Given the description of an element on the screen output the (x, y) to click on. 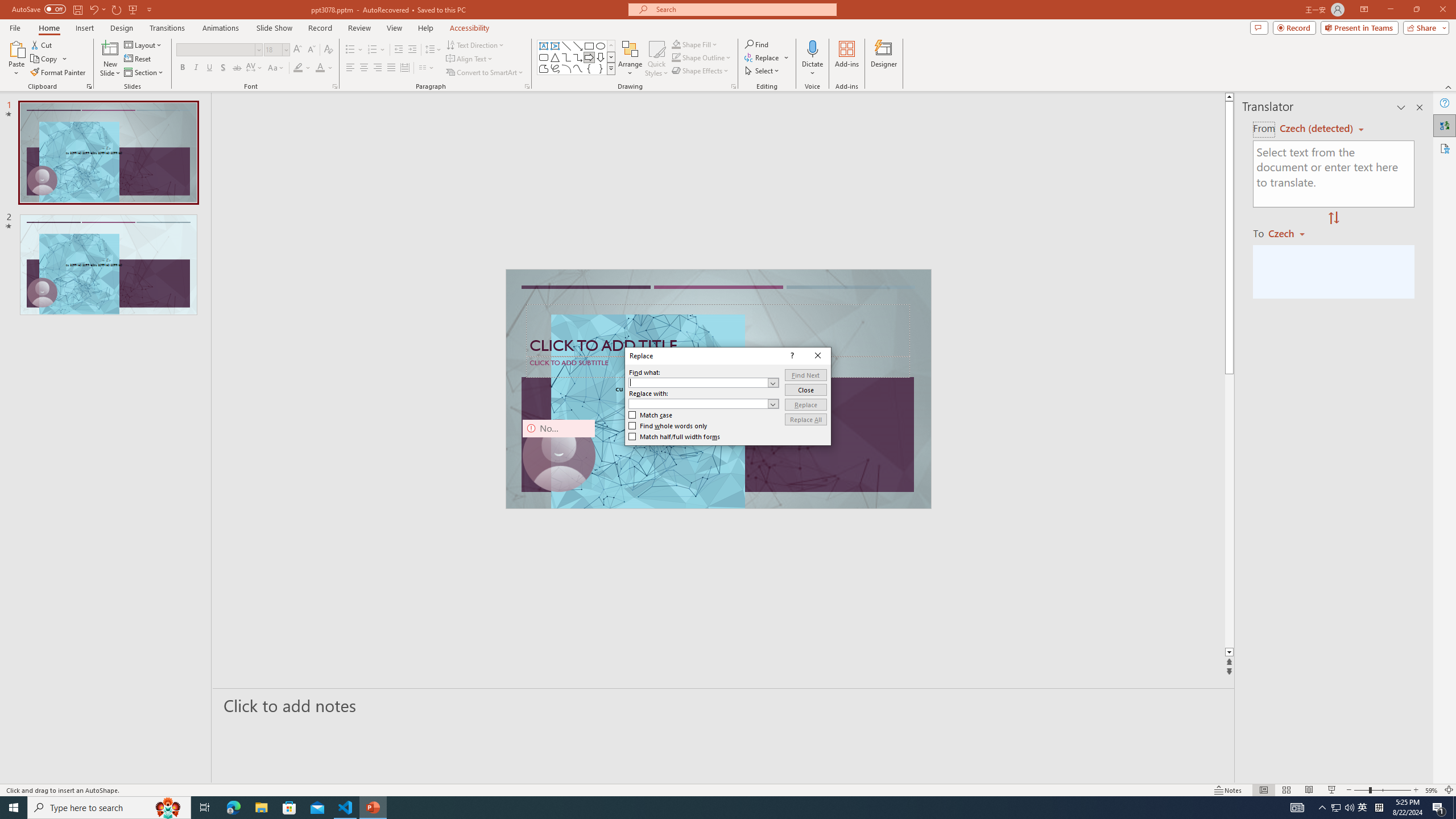
Vertical Text Box (554, 45)
Text Direction (476, 44)
Shape Fill Dark Green, Accent 2 (675, 44)
Decrease Indent (398, 49)
Paragraph... (526, 85)
AutomationID: 4105 (1297, 807)
Find Next (805, 374)
Freeform: Shape (543, 68)
